Given the description of an element on the screen output the (x, y) to click on. 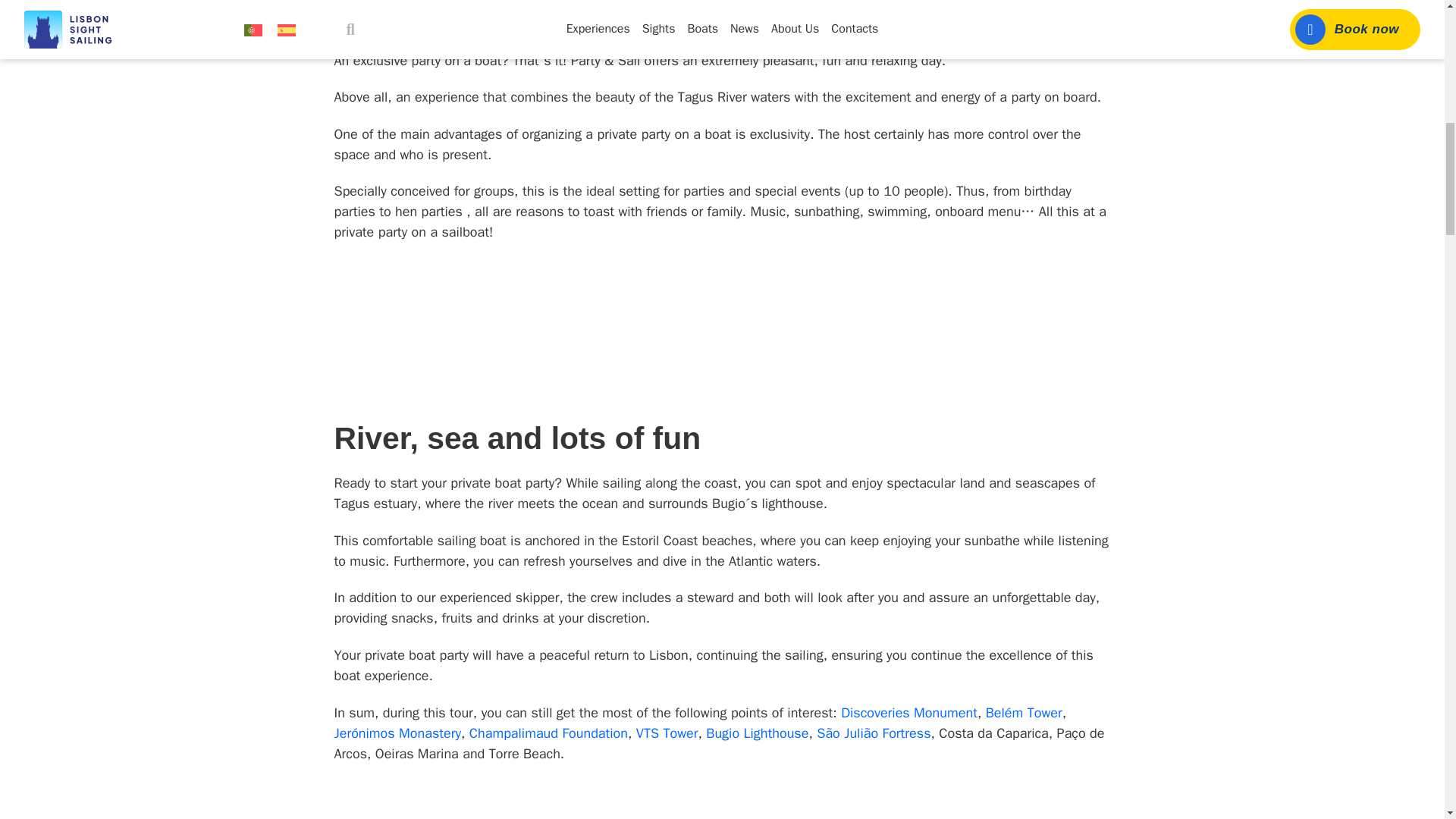
FareHarbor (449, 327)
Discoveries Monument (908, 712)
Champalimaud Foundation (545, 733)
VTS Tower (667, 733)
FareHarbor (1342, 64)
Bugio Lighthouse (757, 733)
